Given the description of an element on the screen output the (x, y) to click on. 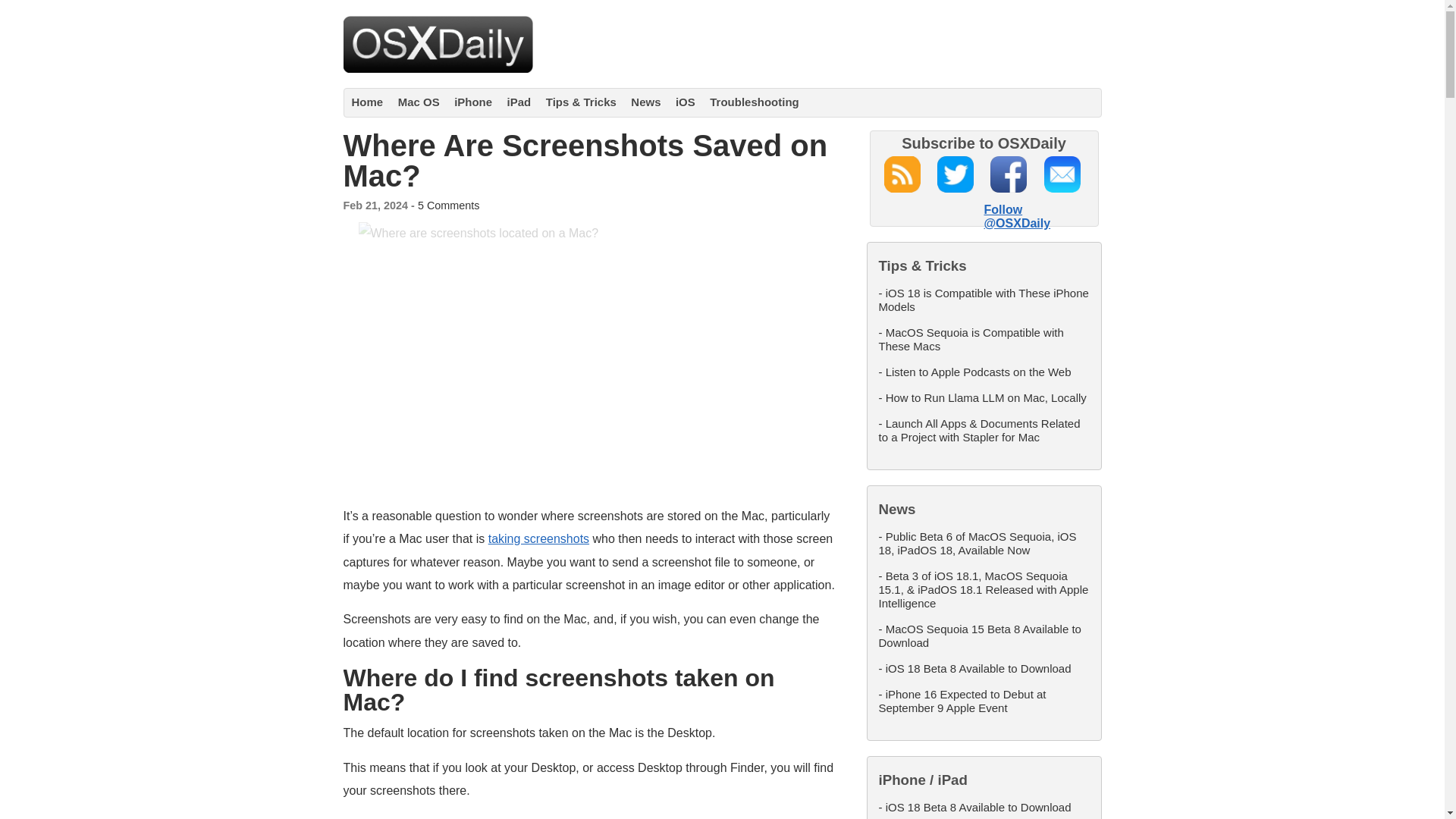
Home (368, 101)
News (645, 101)
iPad (518, 101)
5 Comments (448, 205)
iPhone (473, 101)
taking screenshots (538, 538)
iOS (685, 101)
Troubleshooting (754, 101)
Mac OS (418, 101)
